Given the description of an element on the screen output the (x, y) to click on. 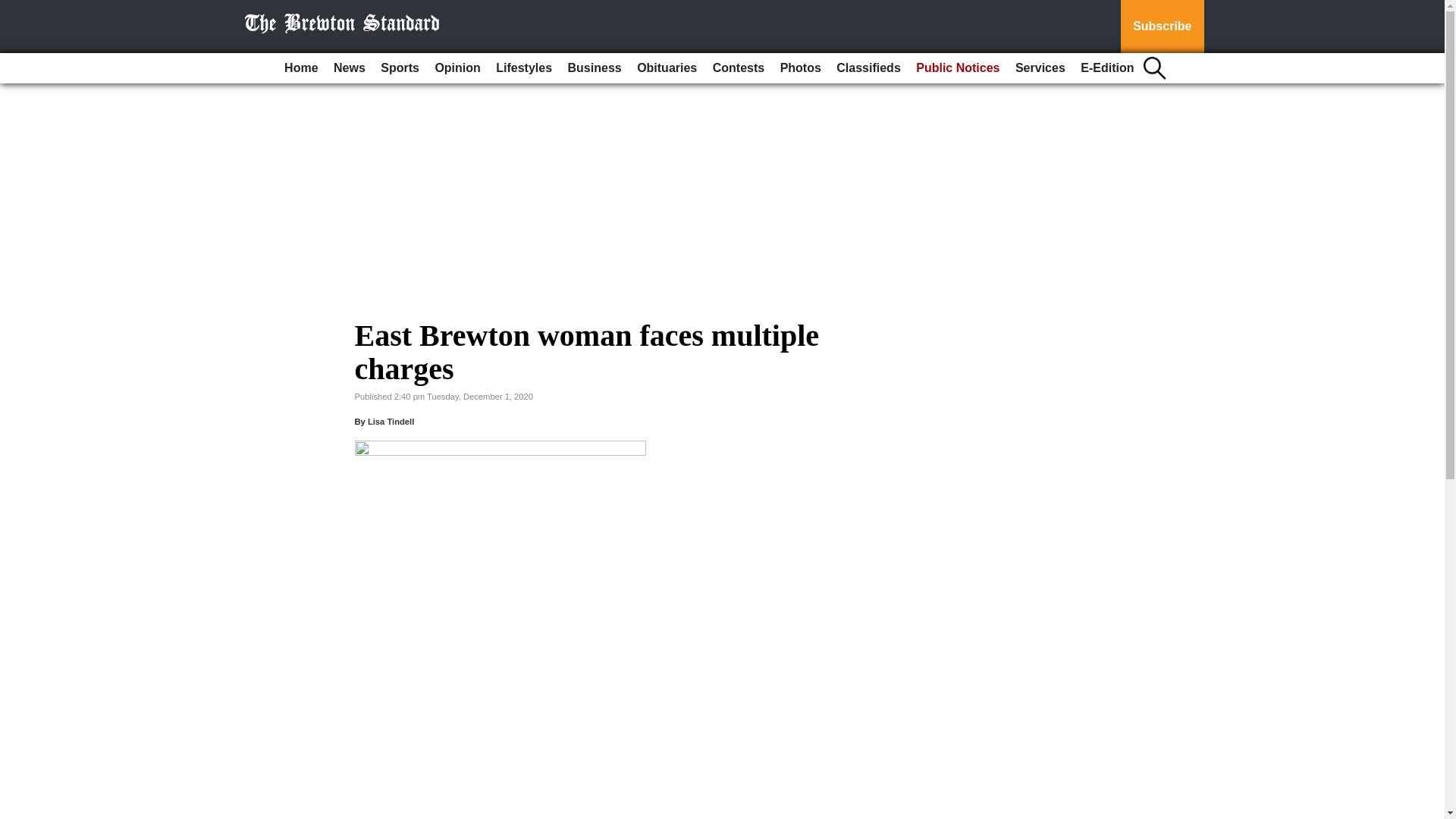
Services (1040, 68)
Obituaries (666, 68)
Lisa Tindell (390, 420)
Business (594, 68)
Sports (399, 68)
Contests (738, 68)
Go (13, 9)
Subscribe (1162, 26)
E-Edition (1107, 68)
Lifestyles (523, 68)
